Given the description of an element on the screen output the (x, y) to click on. 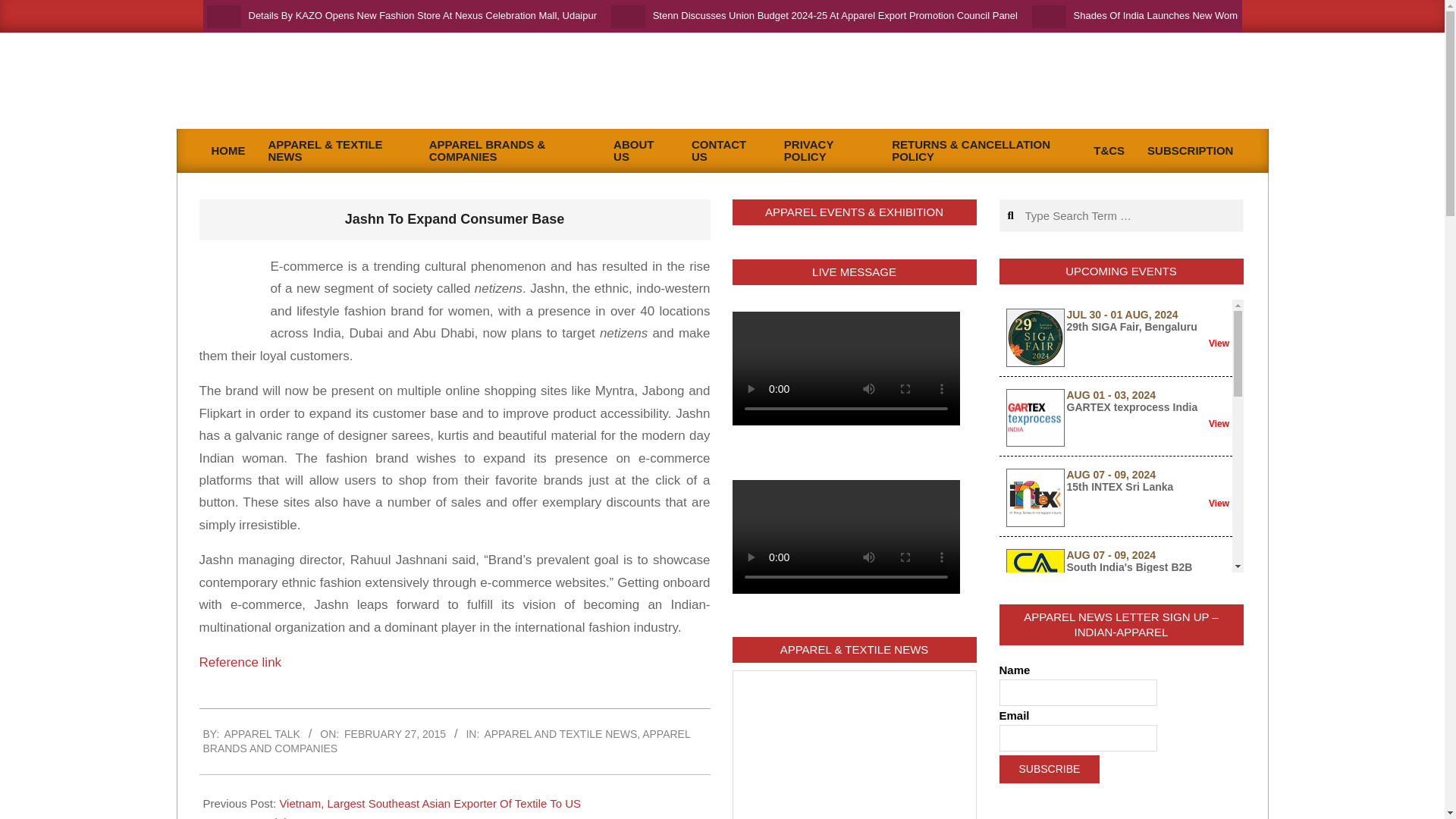
PRIVACY POLICY (826, 150)
Jashn To Expand Consumer Base (239, 662)
Shades Of India Launches New Womenswear Label, Cinnamon (1213, 15)
APPAREL BRANDS AND COMPANIES (446, 741)
SUBSCRIPTION (1189, 151)
Posts by Apparel Talk (261, 734)
Reference link (239, 662)
Training Programme By ATDC (334, 817)
Vietnam, Largest Southeast Asian Exporter Of Textile To US (429, 802)
ABOUT US (640, 150)
APPAREL TALK (261, 734)
HOME (228, 151)
Subscribe (1049, 768)
APPAREL AND TEXTILE NEWS (560, 734)
